Given the description of an element on the screen output the (x, y) to click on. 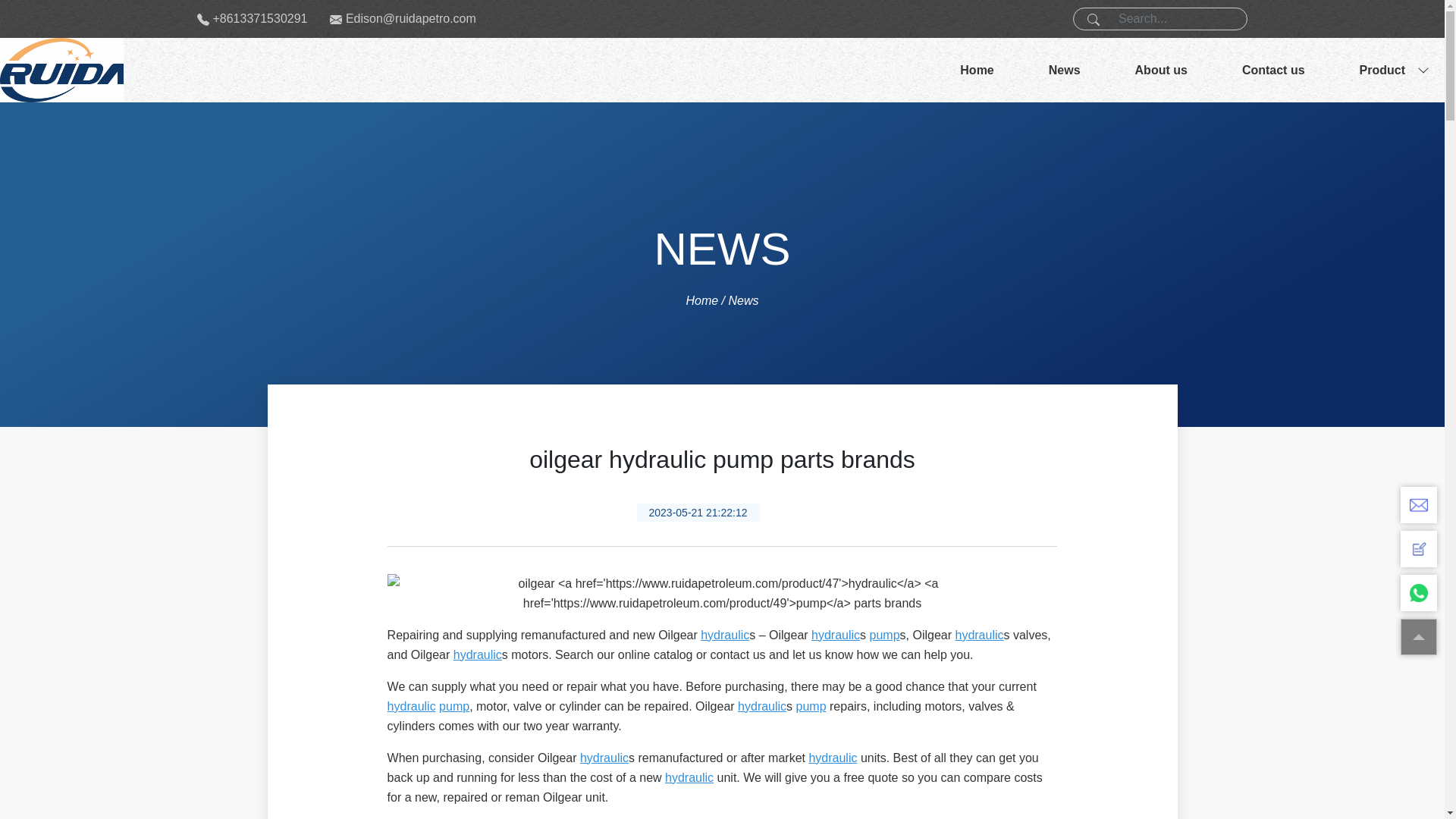
Home (976, 69)
Contact us (1273, 69)
About us (1160, 69)
News (1064, 69)
Product (1382, 69)
